Given the description of an element on the screen output the (x, y) to click on. 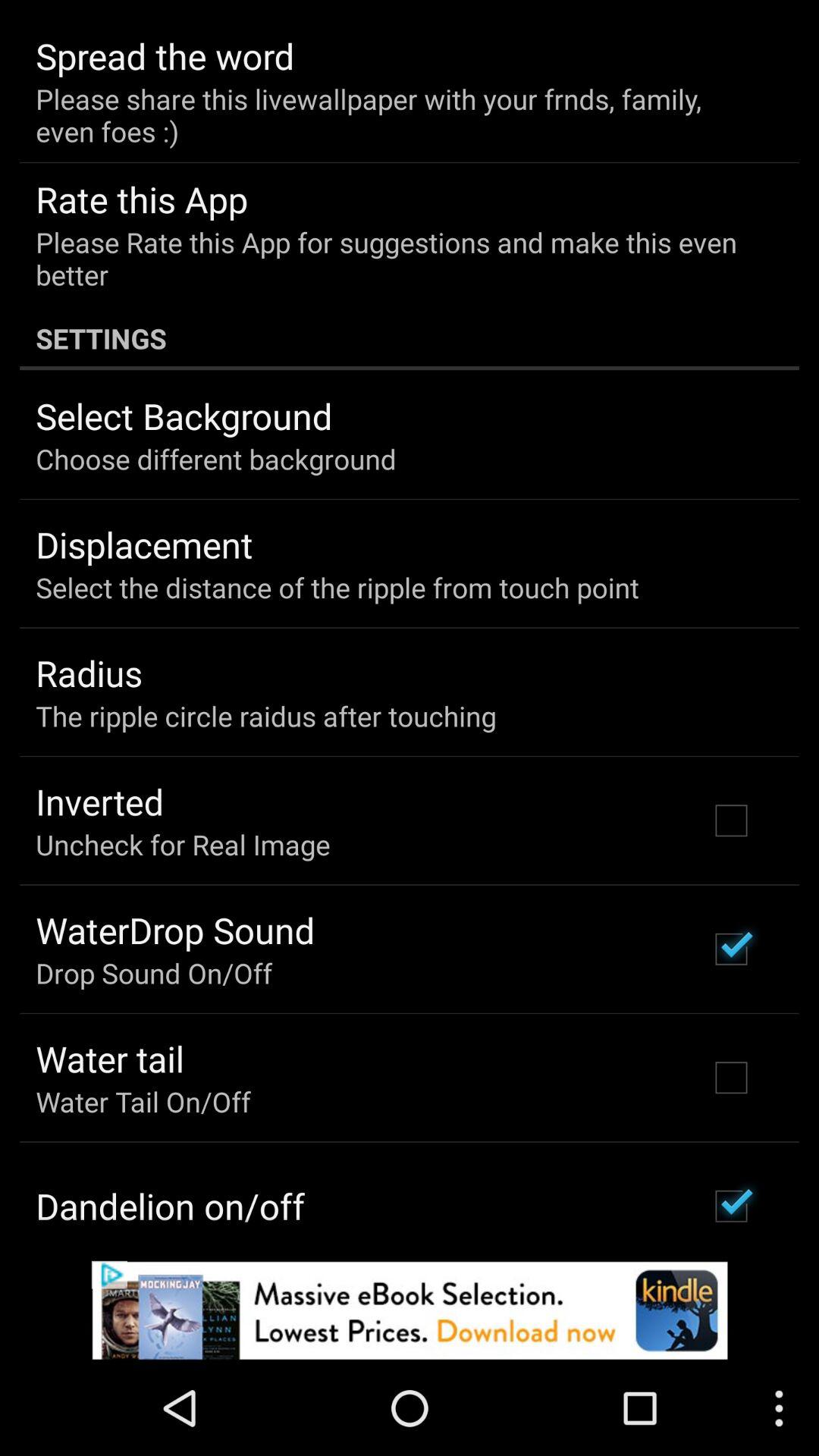
advertisement (409, 1310)
